Given the description of an element on the screen output the (x, y) to click on. 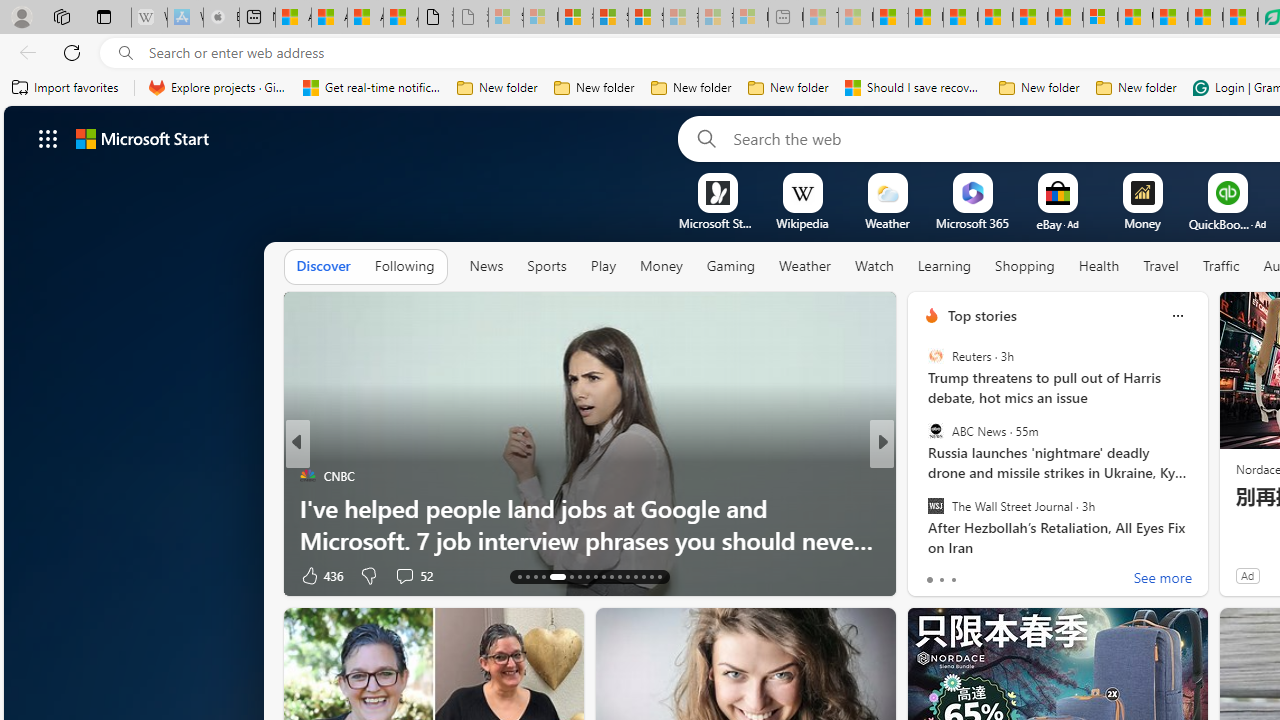
AutomationID: tab-39 (642, 576)
Aberdeen, Hong Kong SAR severe weather | Microsoft Weather (401, 17)
AutomationID: tab-40 (650, 576)
View comments 8 Comment (1014, 575)
Ash & Pri (923, 475)
